Given the description of an element on the screen output the (x, y) to click on. 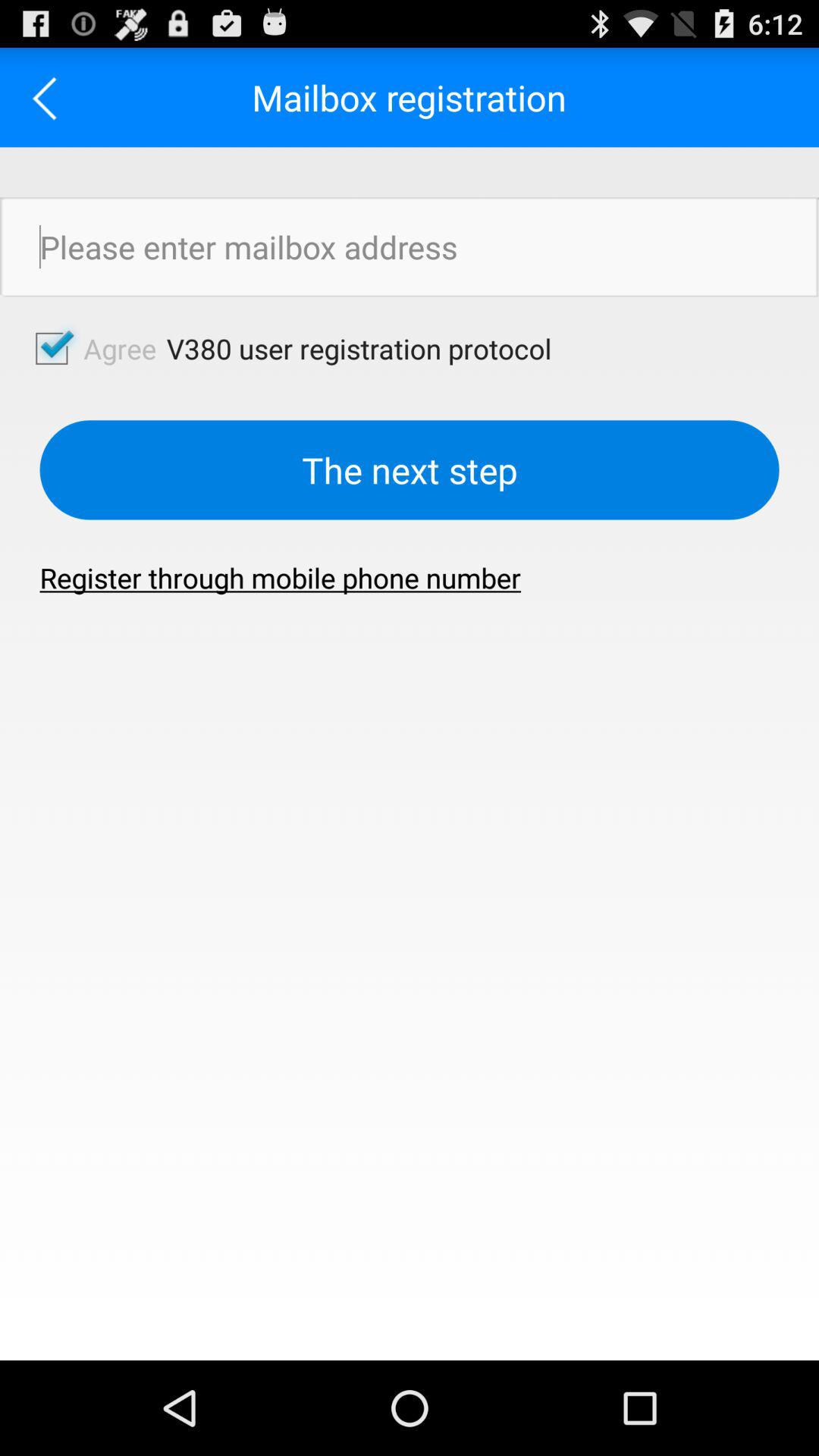
launch the button below the the next step (279, 577)
